Given the description of an element on the screen output the (x, y) to click on. 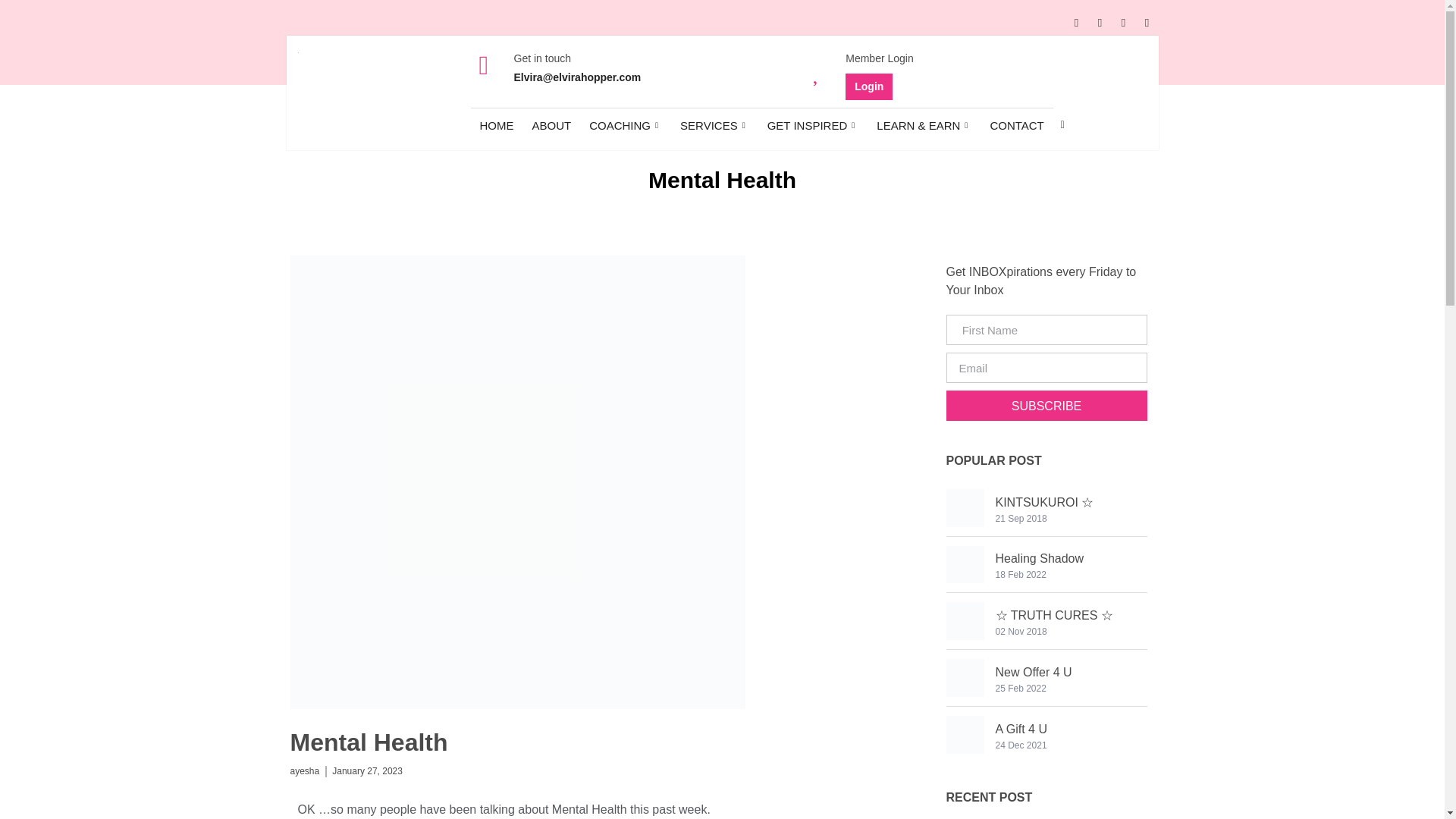
Get in touch (542, 58)
GET INSPIRED (812, 125)
Login (868, 86)
SERVICES (714, 125)
COACHING (625, 125)
HOME (496, 125)
ABOUT (551, 125)
